Given the description of an element on the screen output the (x, y) to click on. 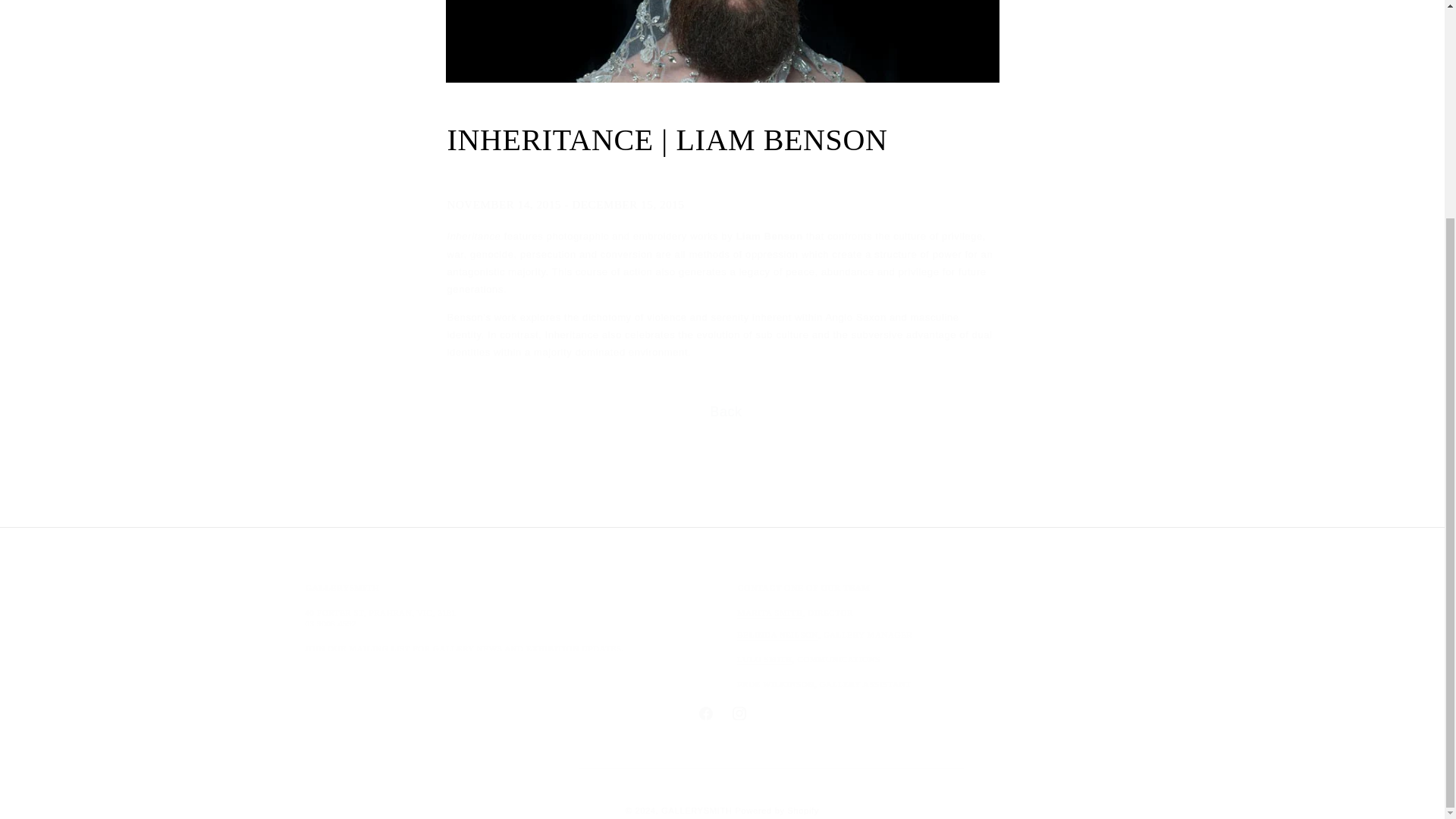
BELINDA NEILSON (776, 633)
Instagram (721, 713)
GALLERYSMITH (738, 713)
LULU SMITH (696, 809)
Facebook (764, 658)
MARITA SMITH (705, 713)
Email Lulu Smith (769, 612)
Join the Gallerysmith mailing list (764, 658)
Powered by Shopify (357, 647)
JOIN OUR MAILING LIST (776, 809)
Email Belinda Neilson (357, 647)
